Given the description of an element on the screen output the (x, y) to click on. 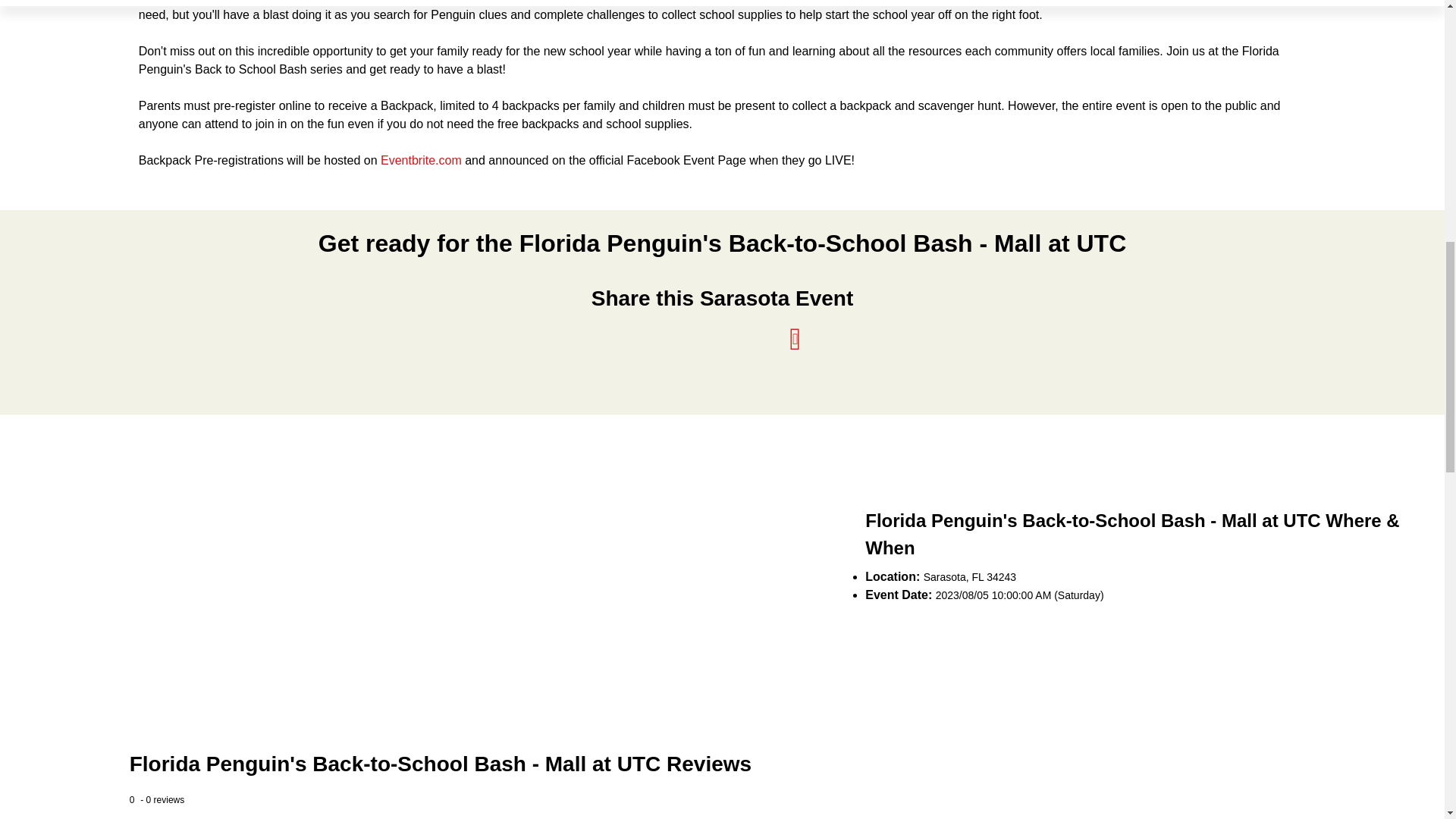
Eventbrite.com (420, 160)
